Given the description of an element on the screen output the (x, y) to click on. 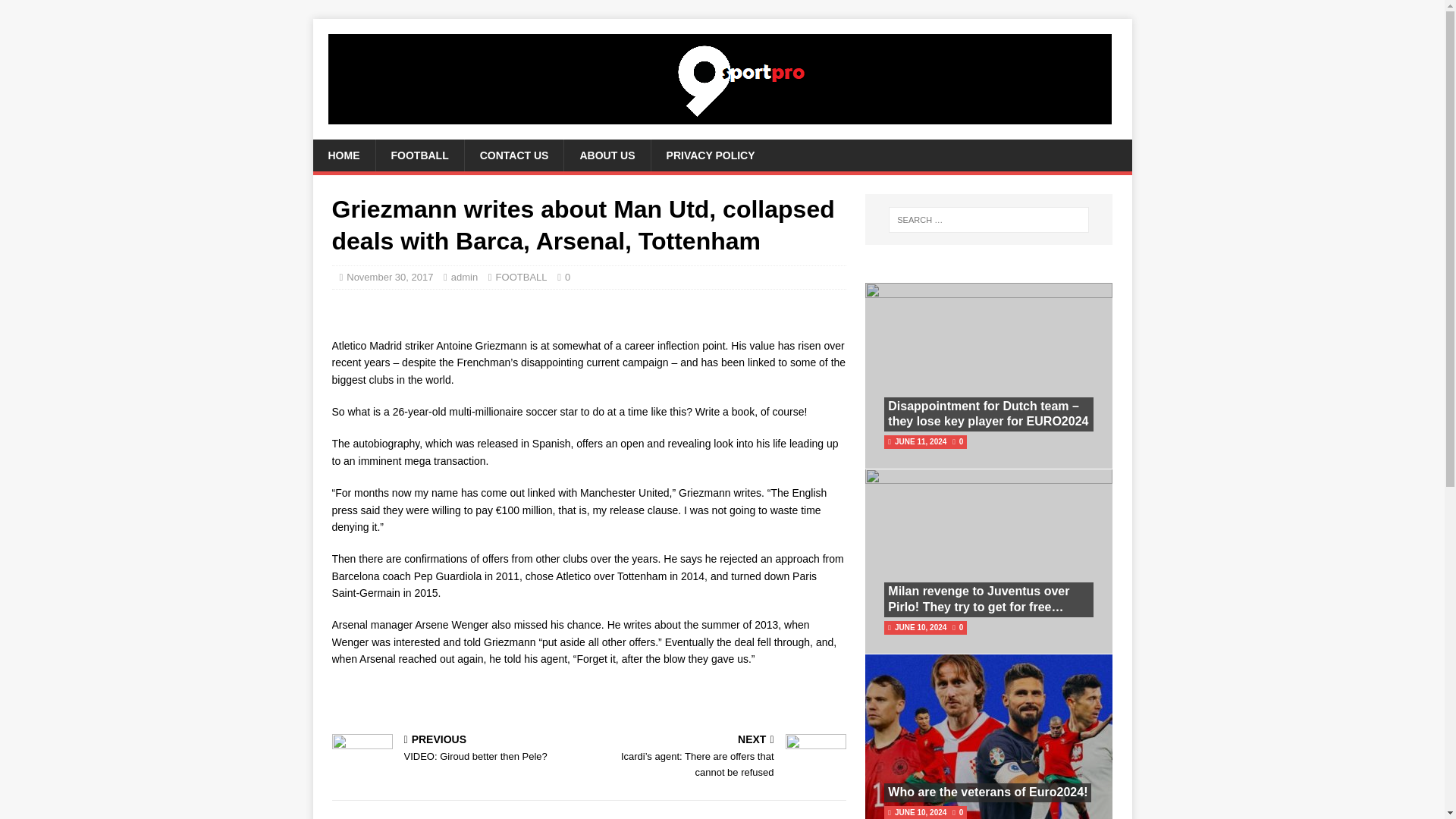
FOOTBALL (418, 155)
November 30, 2017 (389, 276)
FOOTBALL (457, 748)
CONTACT US (521, 276)
ABOUT US (514, 155)
Who are the veterans of Euro2024! (606, 155)
PRIVACY POLICY (987, 791)
admin (710, 155)
HOME (464, 276)
